Given the description of an element on the screen output the (x, y) to click on. 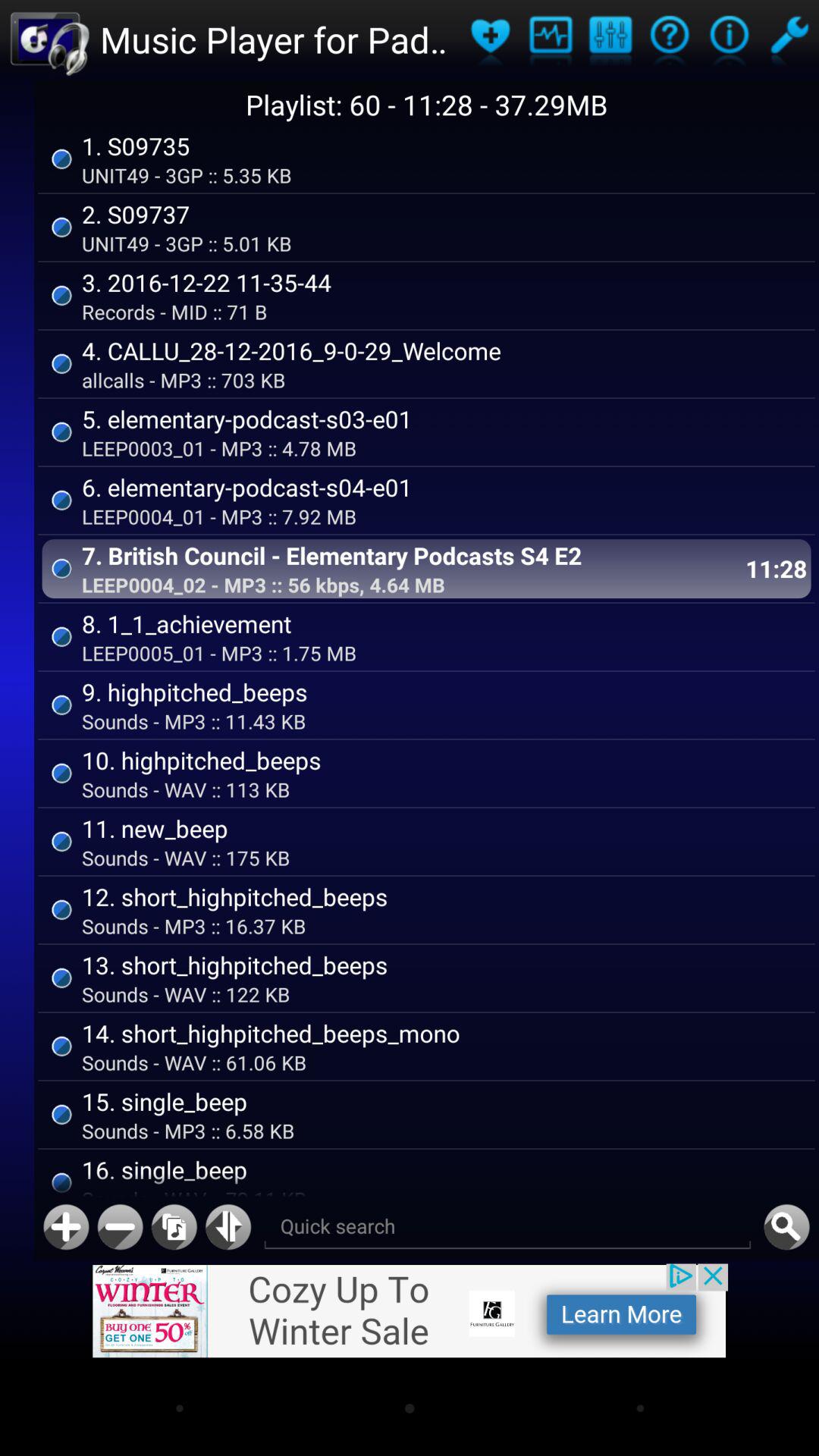
go to settings (609, 39)
